Given the description of an element on the screen output the (x, y) to click on. 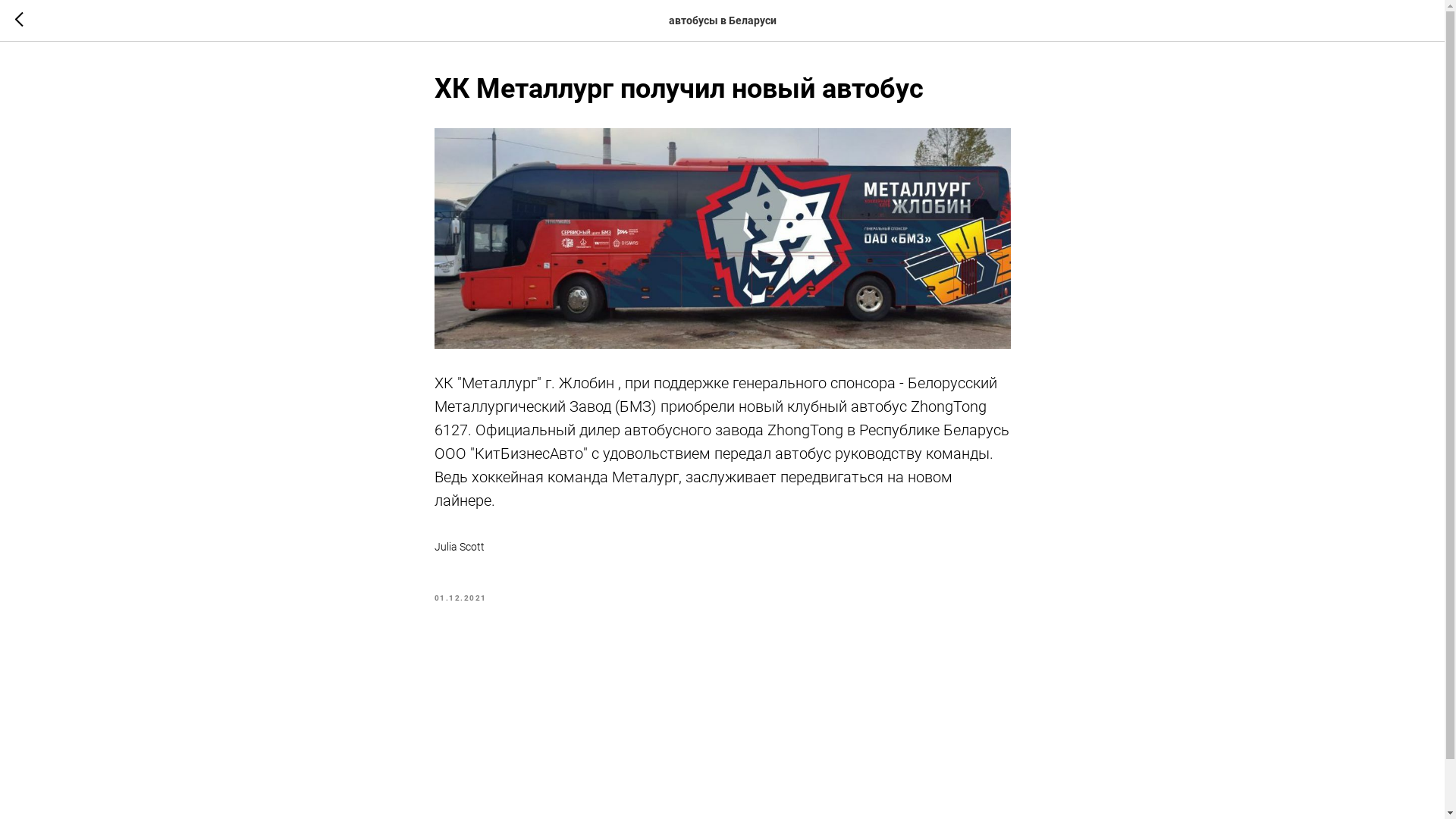
Julia Scott Element type: text (721, 547)
